Given the description of an element on the screen output the (x, y) to click on. 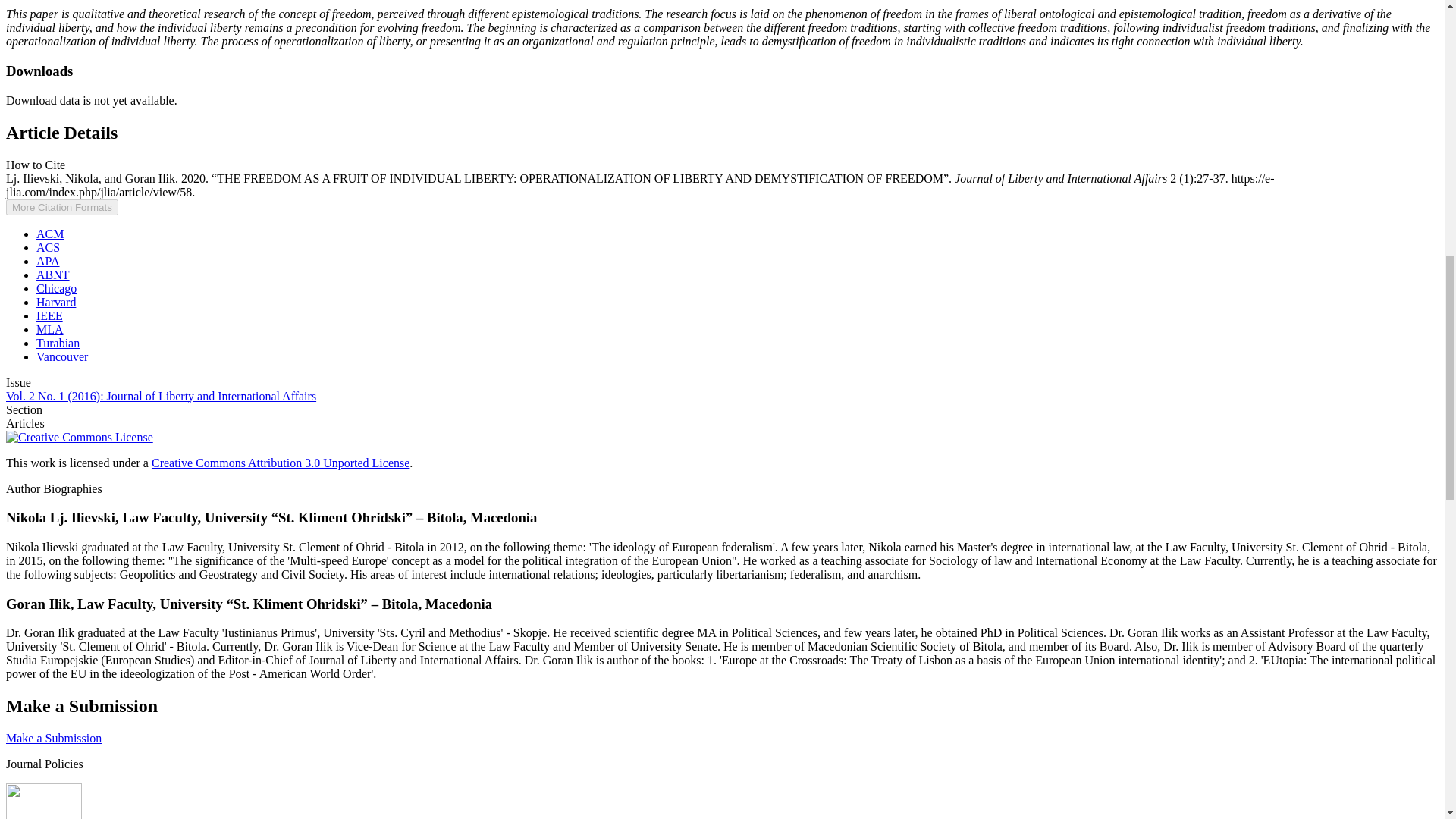
Chicago (56, 287)
More Citation Formats (61, 207)
ACS (47, 246)
ABNT (52, 274)
APA (47, 260)
IEEE (49, 315)
Harvard (55, 301)
ACM (50, 233)
